Given the description of an element on the screen output the (x, y) to click on. 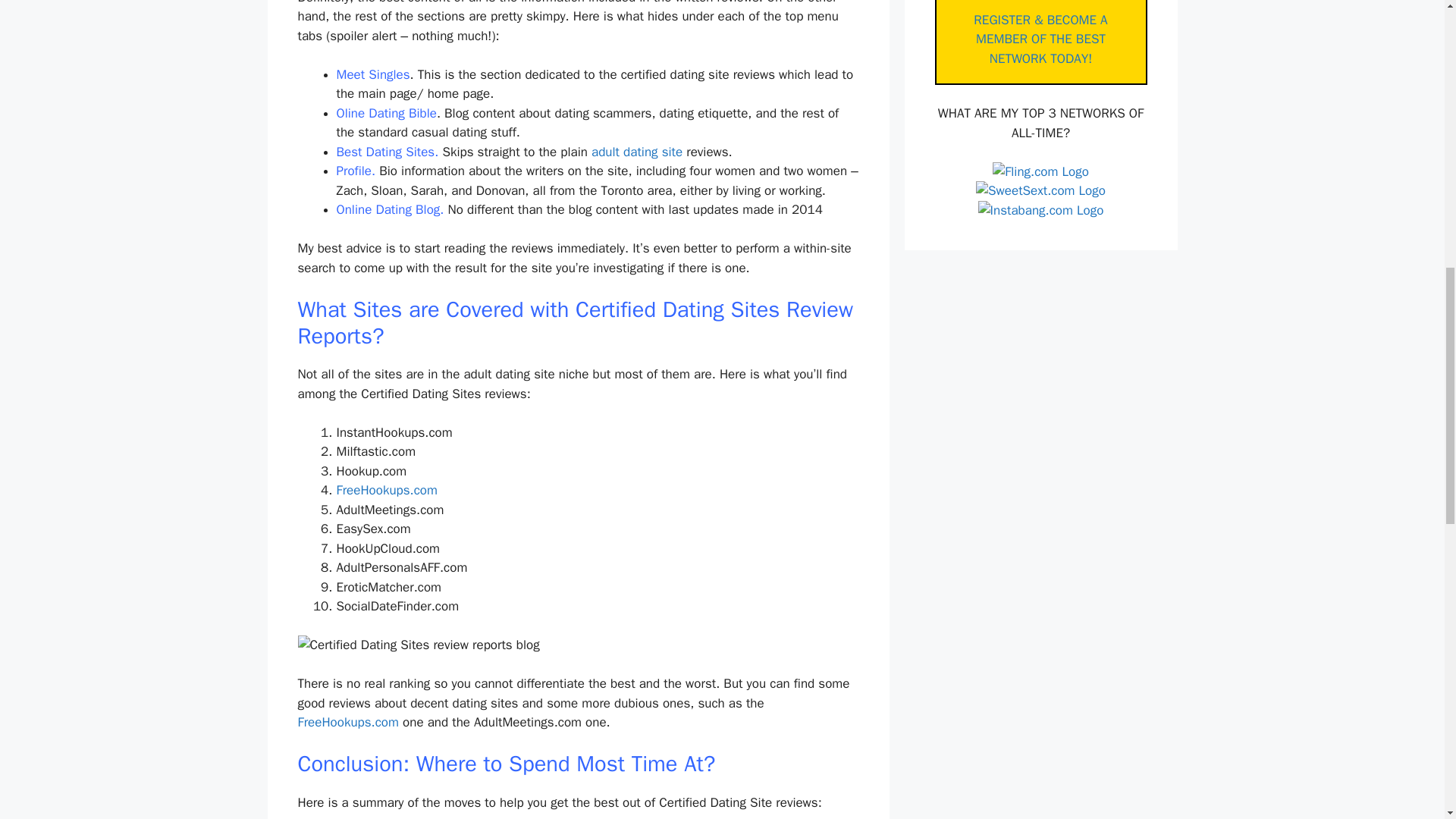
FreeHookups.com (387, 489)
FreeHookups.com (347, 722)
adult dating site (636, 151)
